Given the description of an element on the screen output the (x, y) to click on. 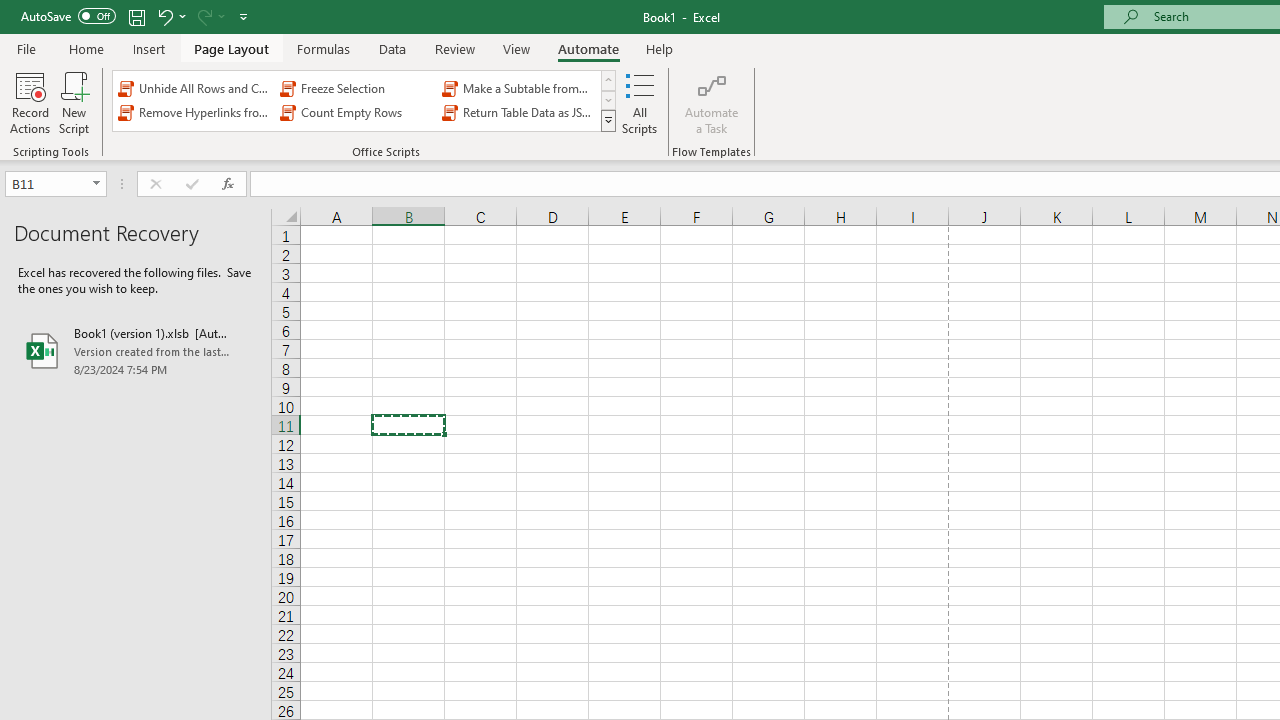
Unhide All Rows and Columns (194, 88)
New Script (73, 102)
Automate a Task (712, 102)
Office Scripts (608, 120)
Remove Hyperlinks from Sheet (194, 112)
Freeze Selection (356, 88)
